Given the description of an element on the screen output the (x, y) to click on. 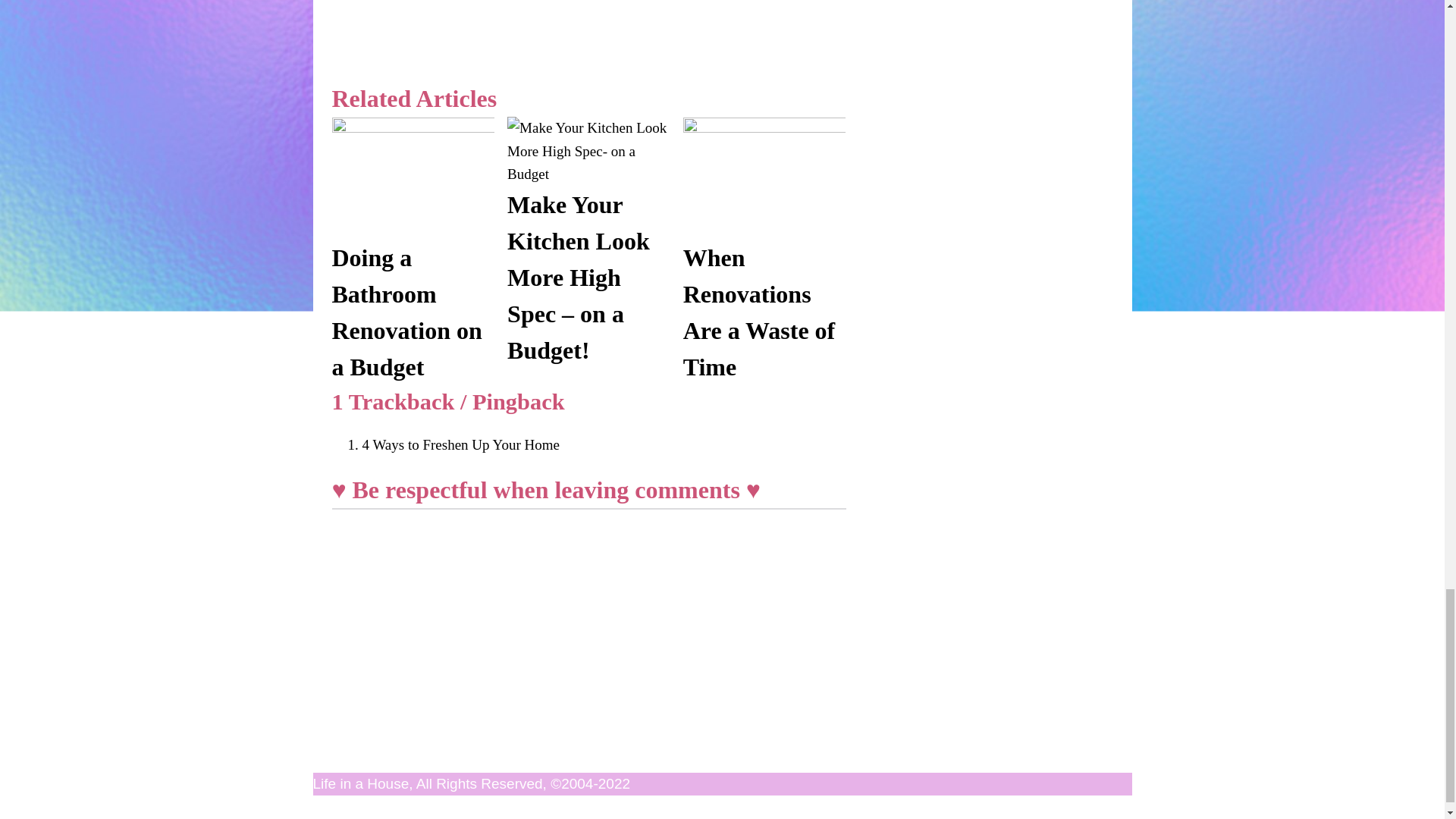
Doing a Bathroom Renovation on a Budget (413, 227)
When Renovations Are a Waste of Time (763, 227)
Comment Form (588, 626)
Doing a Bathroom Renovation on a Budget (406, 312)
When Renovations Are a Waste of Time (758, 312)
Doing a Bathroom Renovation on a Budget (406, 312)
